Given the description of an element on the screen output the (x, y) to click on. 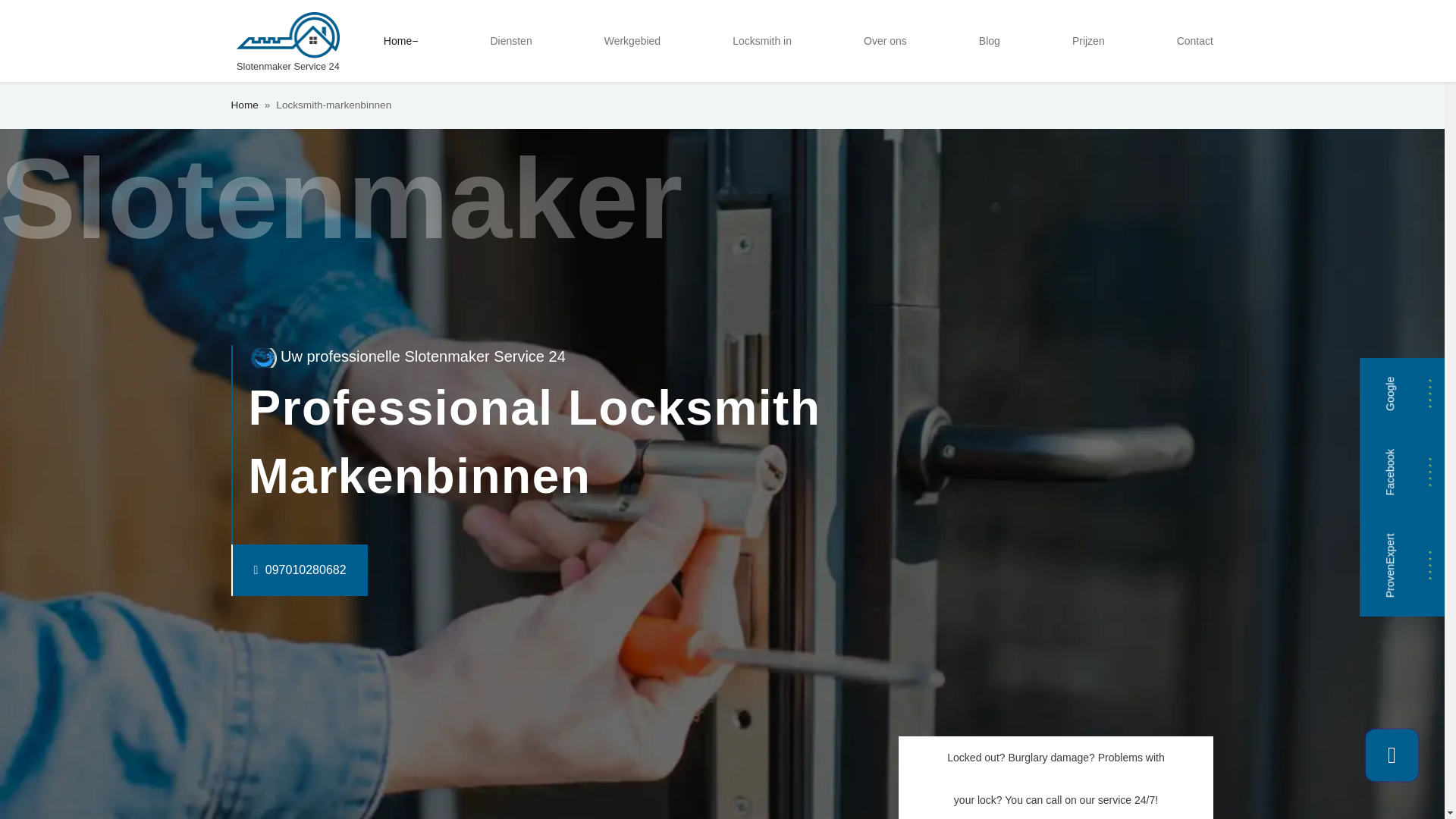
Home (401, 40)
Contact (1195, 40)
Locksmith in (761, 40)
Prijzen (1087, 40)
Over ons (884, 40)
Werkgebied (632, 40)
097010280682 (268, 570)
Blog (989, 40)
Slotenmaker Service 24 (287, 40)
Home (243, 105)
Diensten (510, 40)
